Given the description of an element on the screen output the (x, y) to click on. 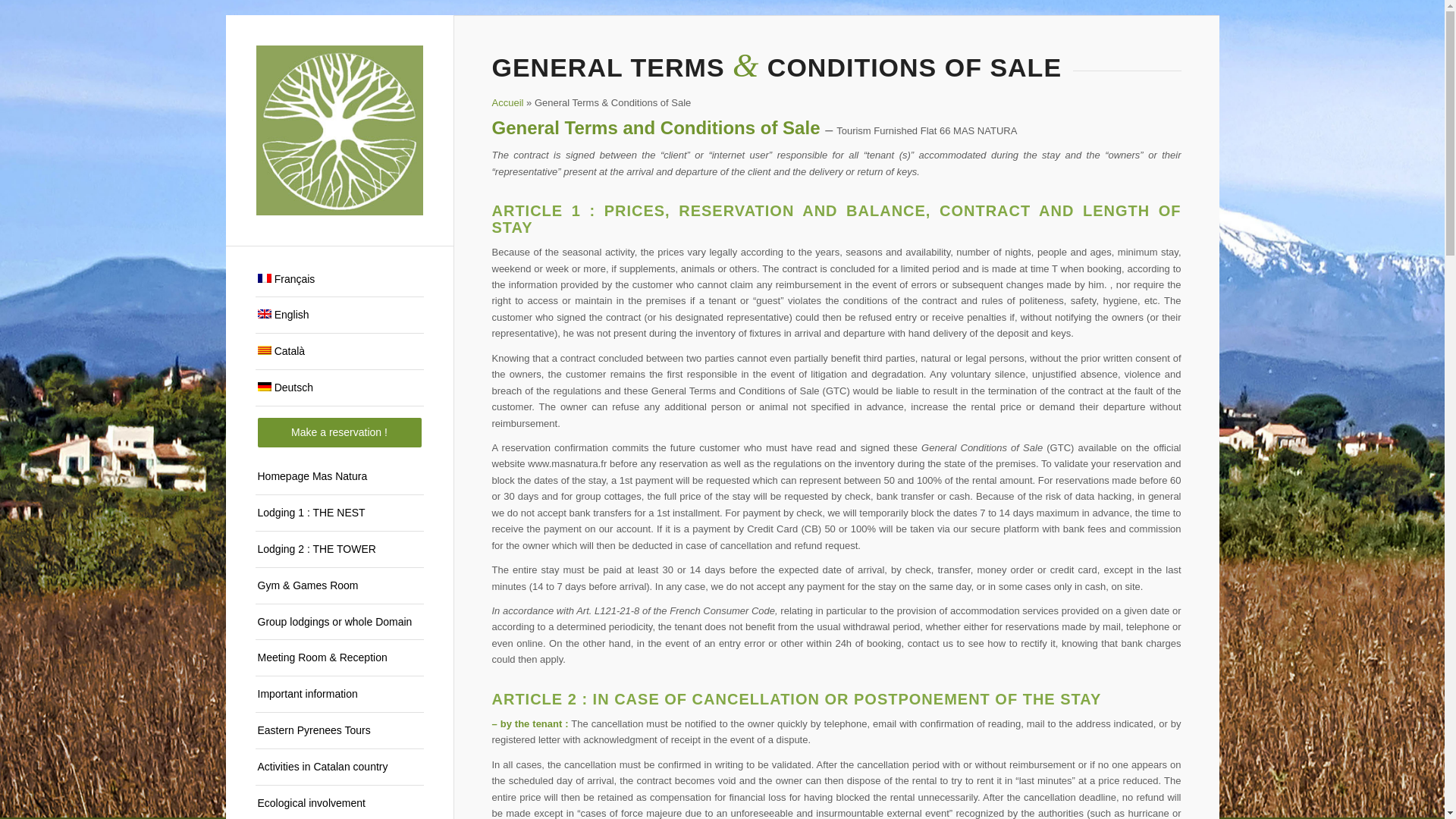
Deutsch (263, 386)
Important information (338, 694)
Deutsch (338, 388)
Activities in Catalan country (338, 767)
Logo Natura vert (339, 130)
Lodging 2 : THE TOWER (338, 549)
Lodging 1 : THE NEST (338, 513)
Deutsch (338, 388)
Eastern Pyrenees Tours (338, 730)
Group lodgings or whole Domain (338, 622)
